Given the description of an element on the screen output the (x, y) to click on. 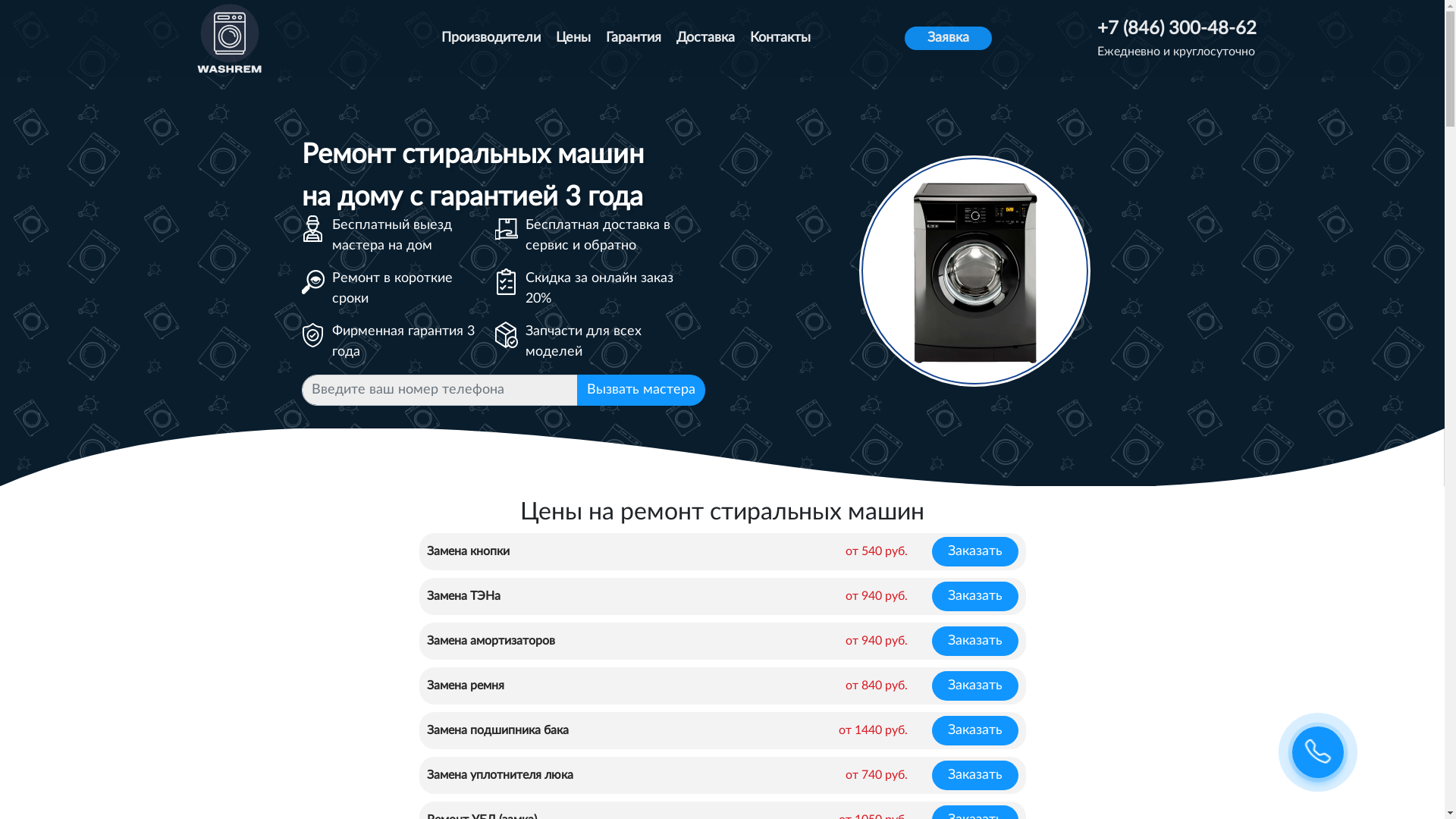
+7 (846) 300-48-62 Element type: text (1176, 28)
